Given the description of an element on the screen output the (x, y) to click on. 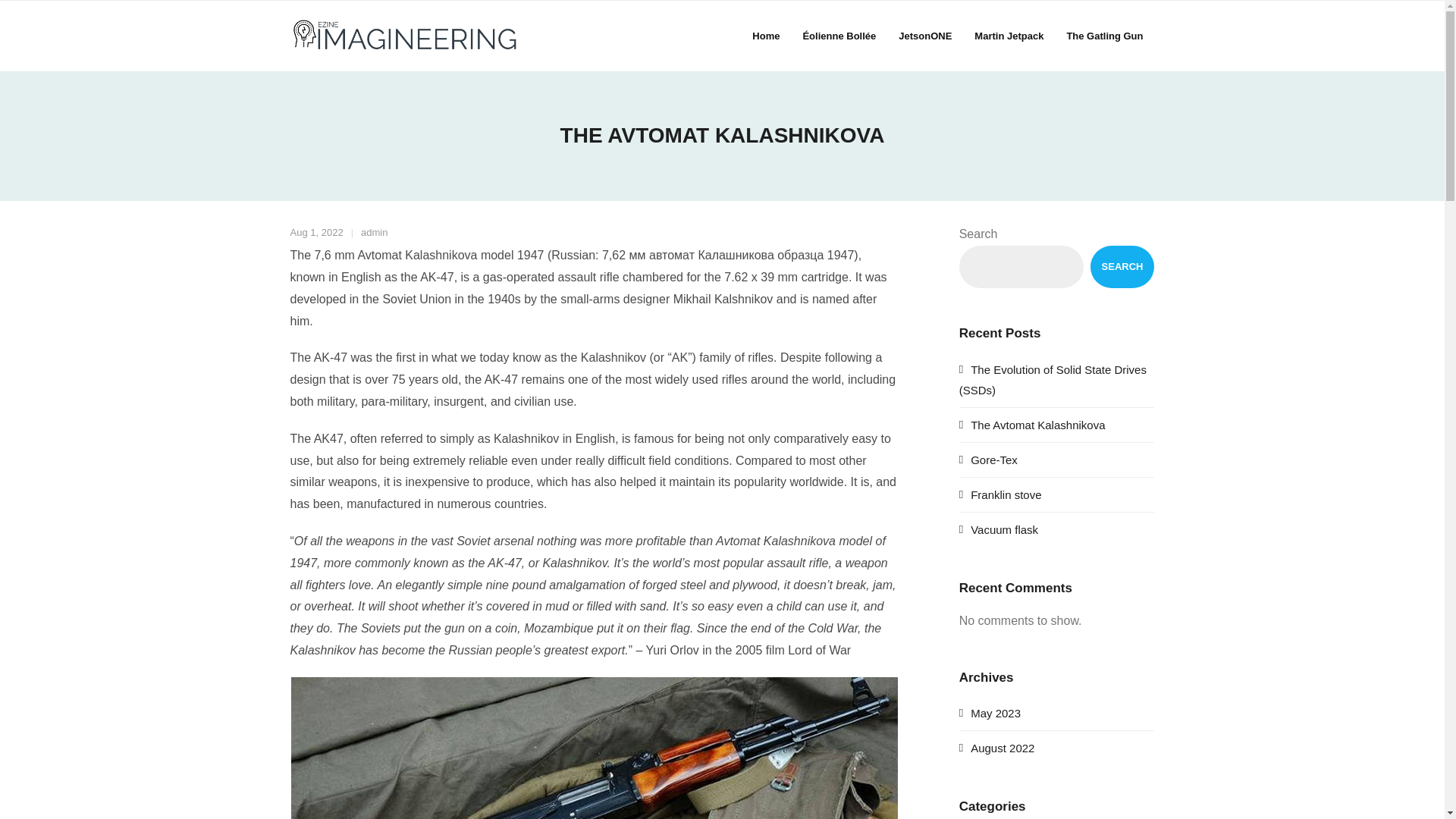
SEARCH (1122, 267)
Gore-Tex (988, 459)
JetsonONE (924, 35)
August 2022 (997, 747)
Vacuum flask (998, 529)
Franklin stove (1000, 494)
The Gatling Gun (1104, 35)
View all posts by admin (374, 232)
admin (374, 232)
Aug 1, 2022 (315, 232)
The Avtomat Kalashnikova (1032, 424)
Martin Jetpack (1008, 35)
May 2023 (989, 713)
